Given the description of an element on the screen output the (x, y) to click on. 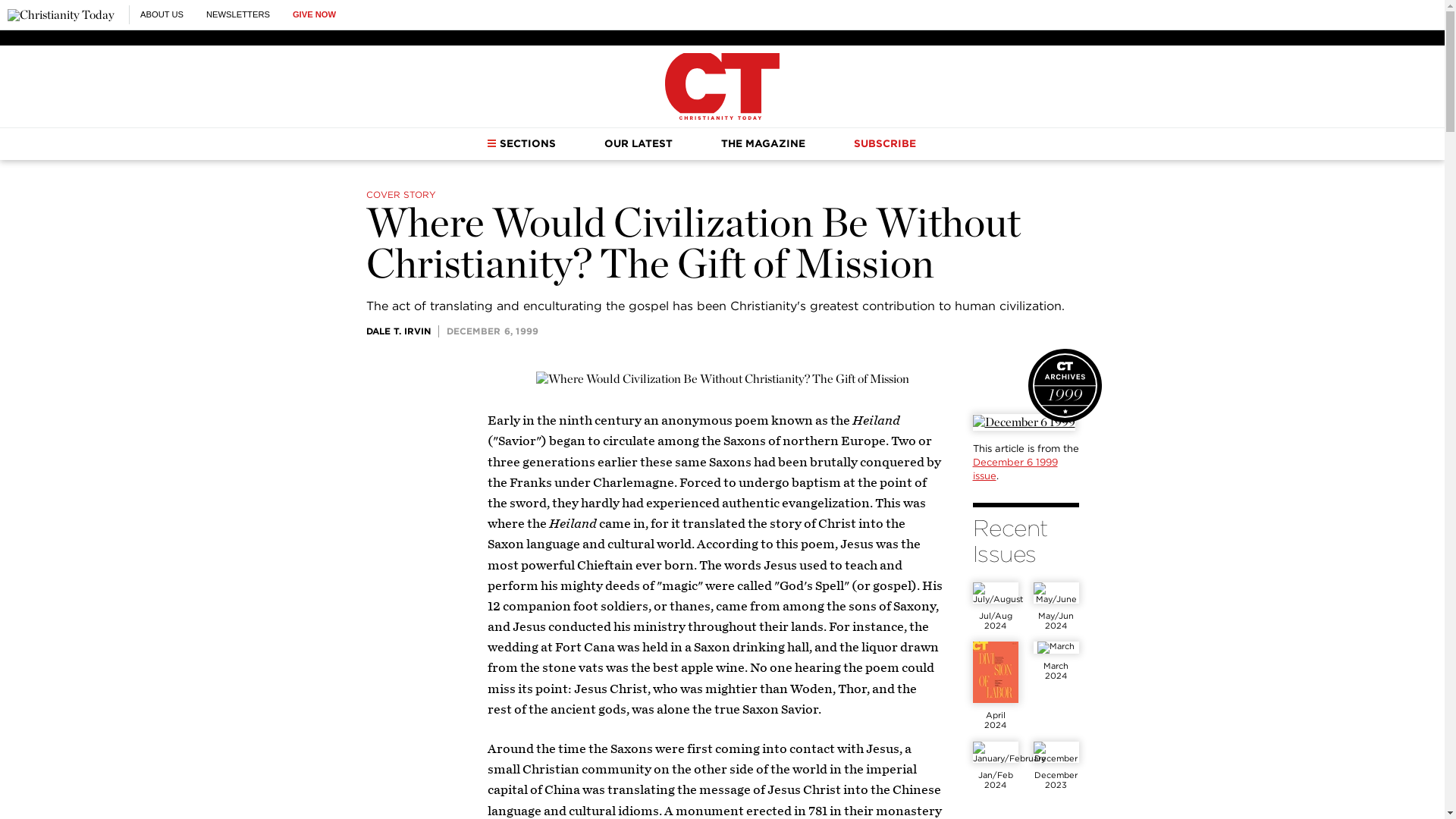
ABOUT US (161, 14)
NEWSLETTERS (238, 14)
Sections Dropdown (491, 143)
Christianity Today (61, 15)
GIVE NOW (314, 14)
Christianity Today (721, 86)
SECTIONS (521, 143)
